Given the description of an element on the screen output the (x, y) to click on. 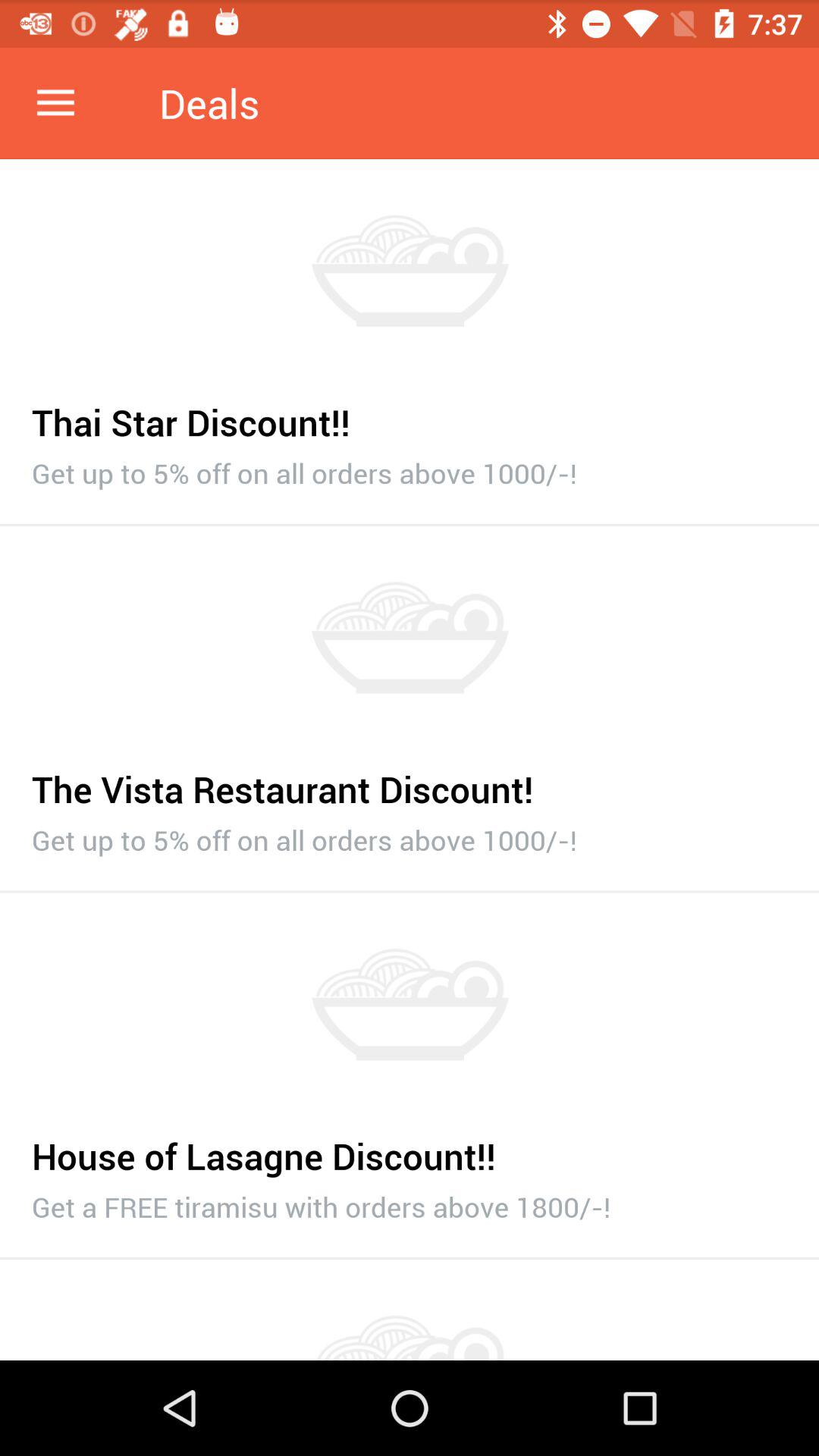
click the item next to the deals (55, 103)
